Given the description of an element on the screen output the (x, y) to click on. 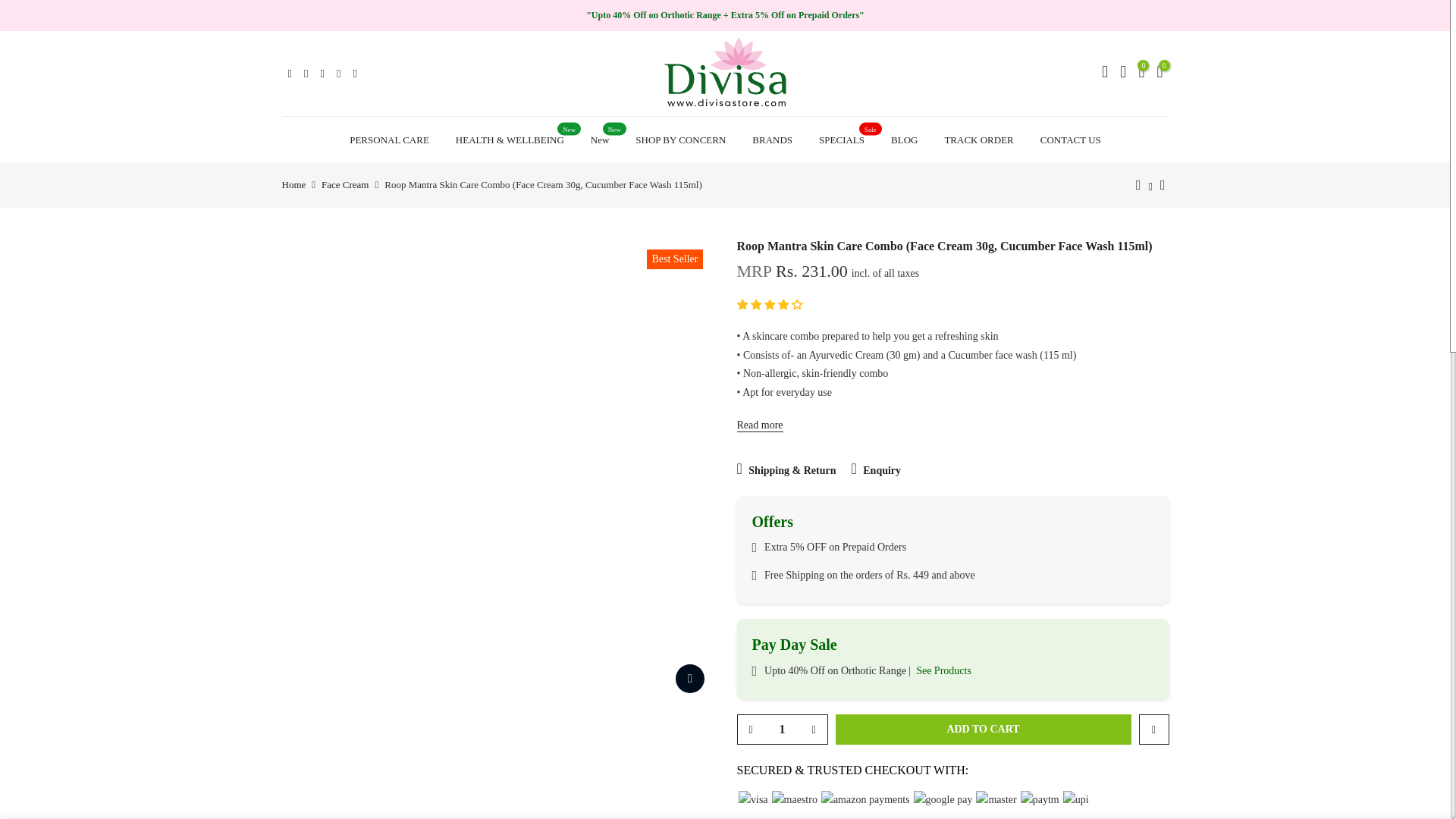
PERSONAL CARE (389, 139)
0 (1141, 73)
1 (781, 728)
